Given the description of an element on the screen output the (x, y) to click on. 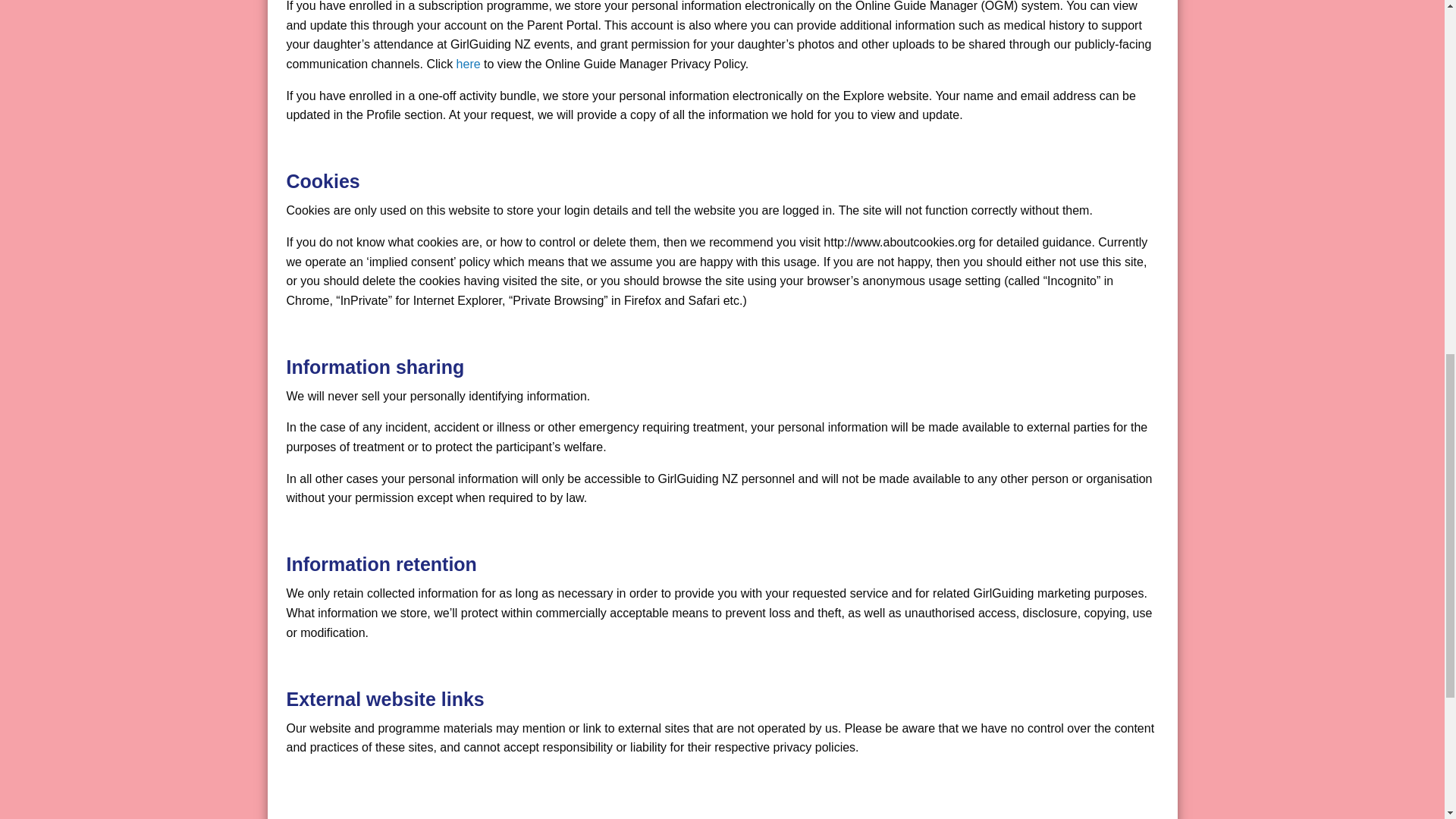
here (468, 63)
